Given the description of an element on the screen output the (x, y) to click on. 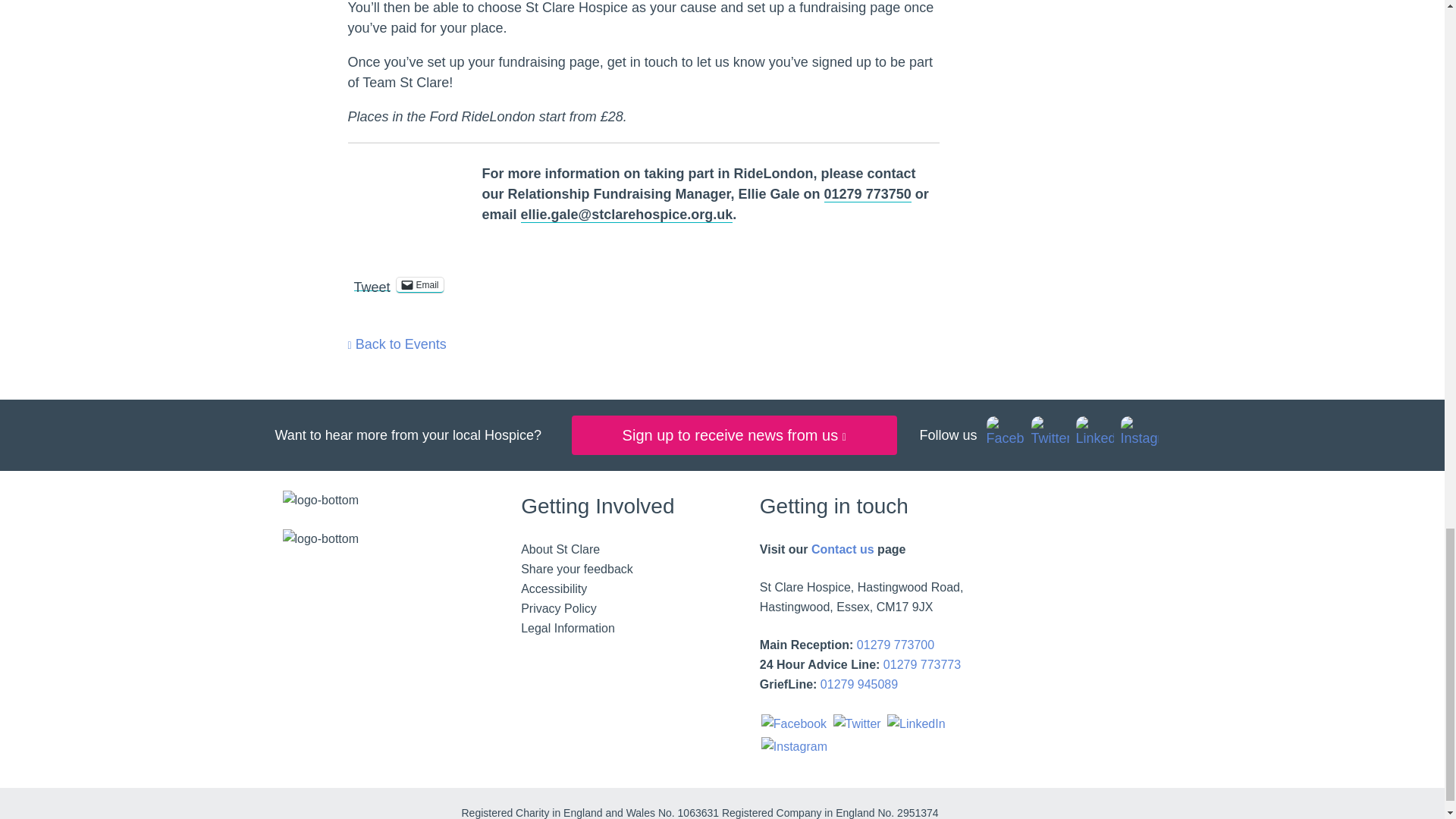
Click to email a link to a friend (420, 284)
